Given the description of an element on the screen output the (x, y) to click on. 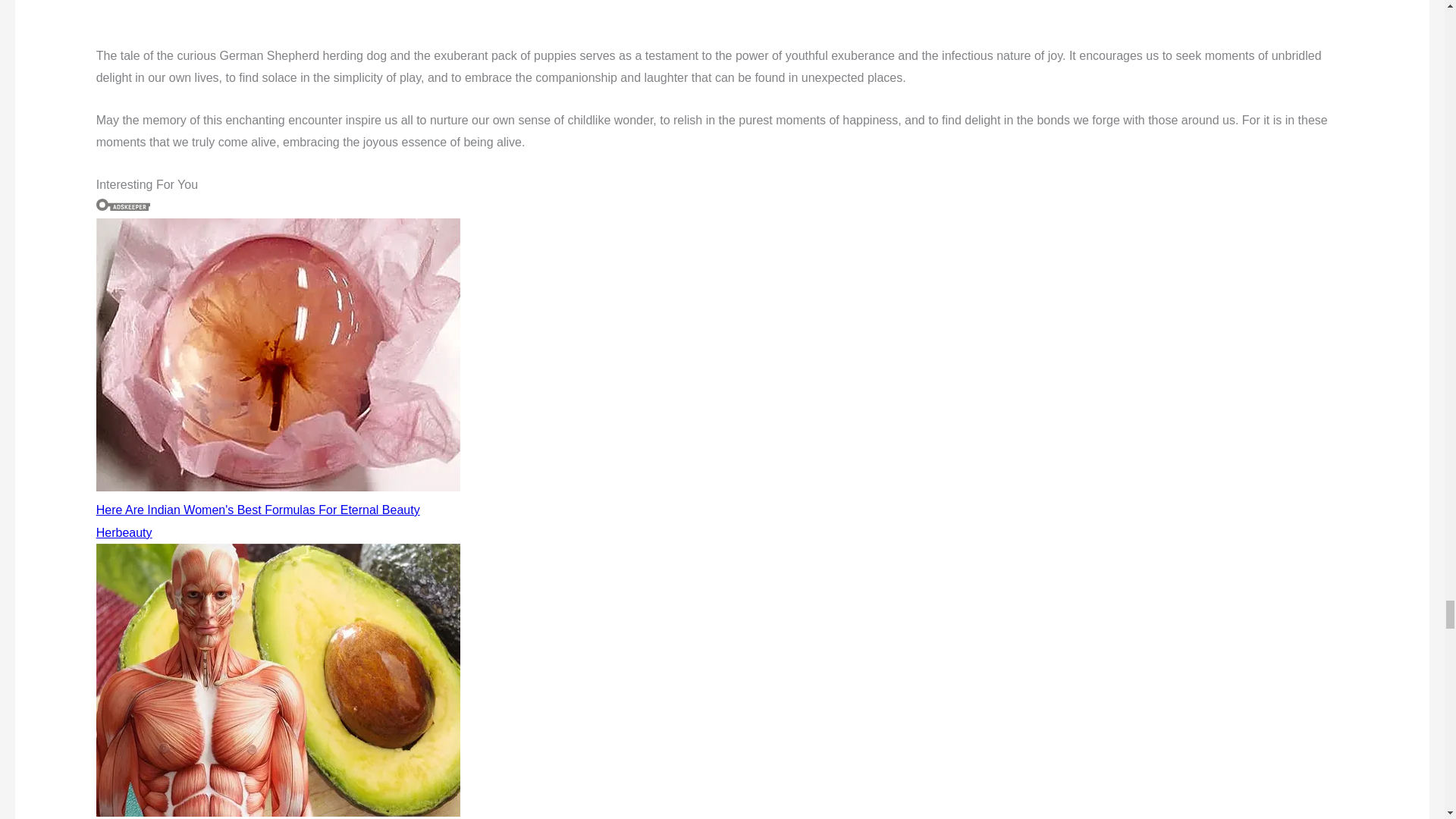
German Shepherd Meets Puppies for the First Time (372, 8)
